Given the description of an element on the screen output the (x, y) to click on. 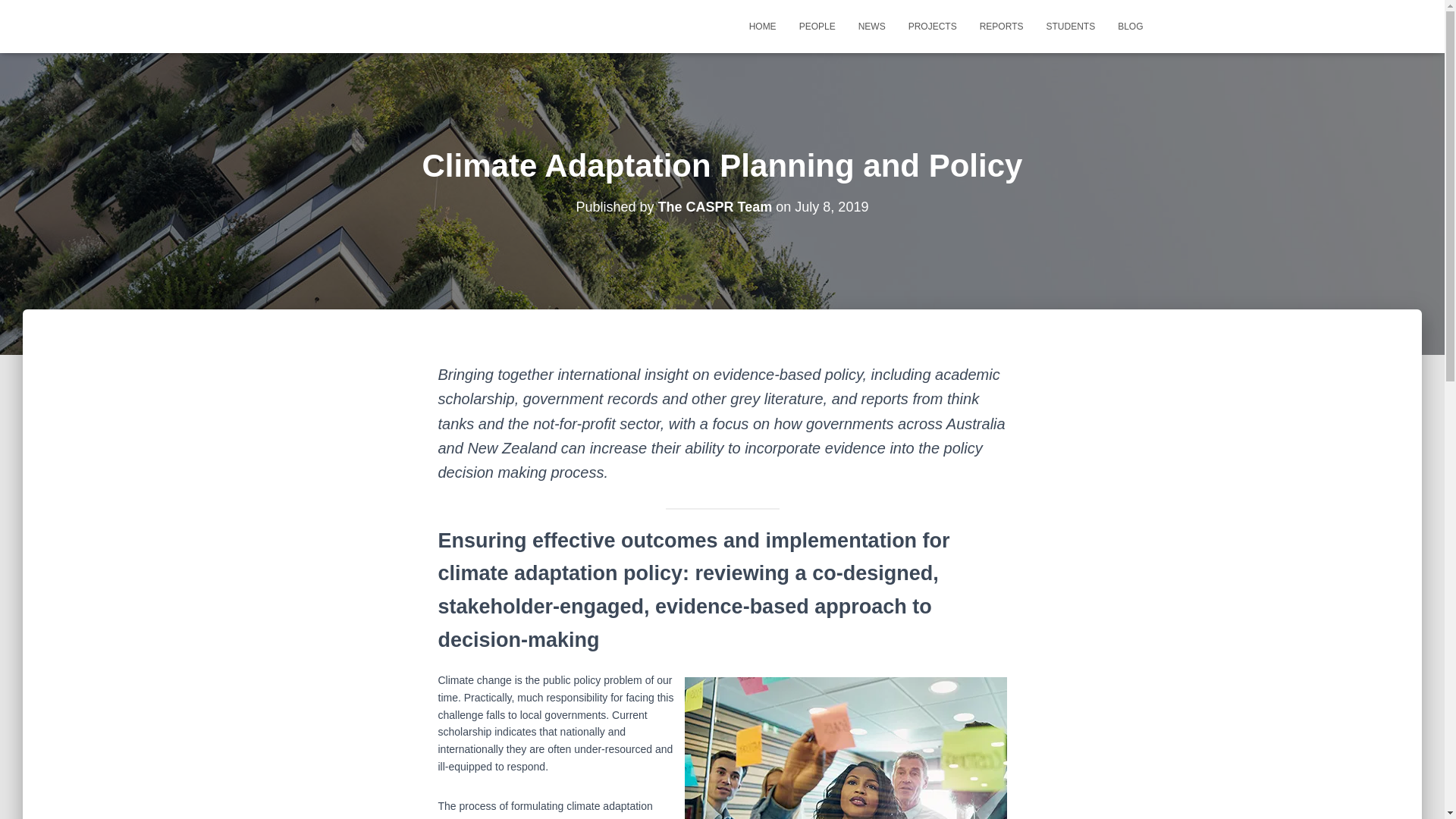
NEWS (871, 26)
STUDENTS (1069, 26)
PROJECTS (932, 26)
Reports (1001, 26)
PEOPLE (817, 26)
REPORTS (1001, 26)
Projects (932, 26)
BLOG (1130, 26)
Home (762, 26)
The CASPR Team (715, 206)
